Given the description of an element on the screen output the (x, y) to click on. 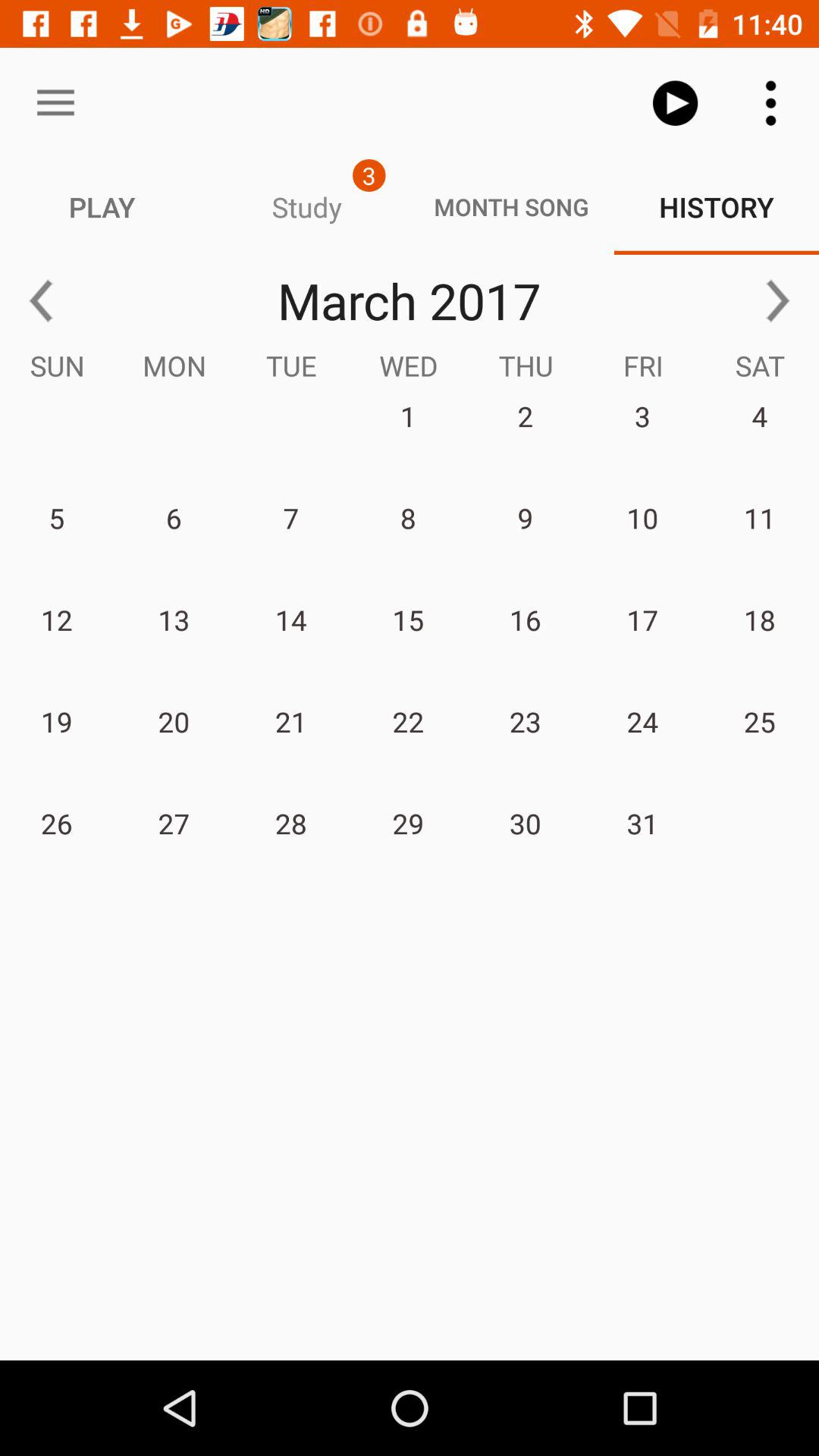
turn off icon next to the 3 icon (55, 103)
